Given the description of an element on the screen output the (x, y) to click on. 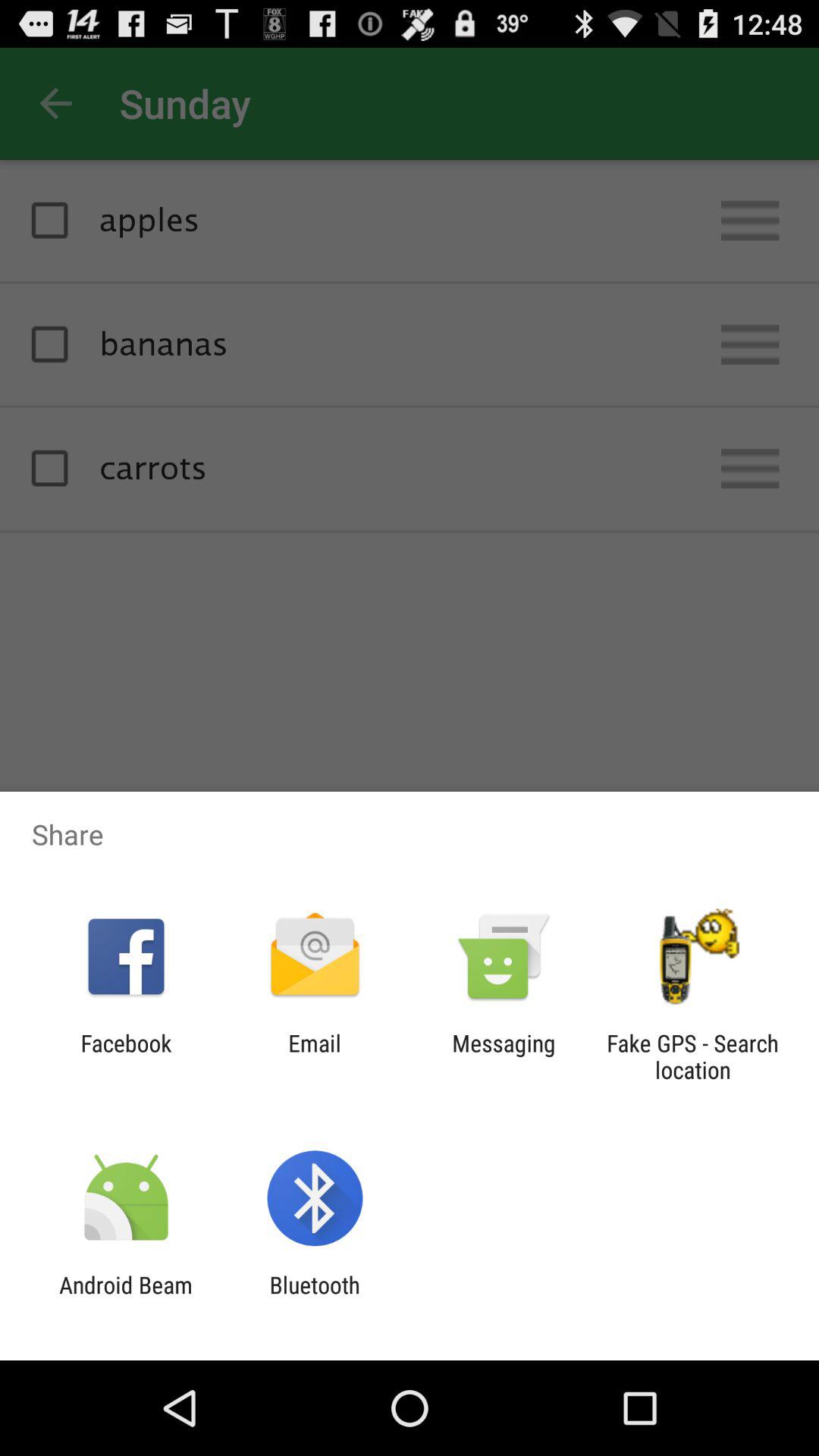
open icon to the right of the messaging item (692, 1056)
